Given the description of an element on the screen output the (x, y) to click on. 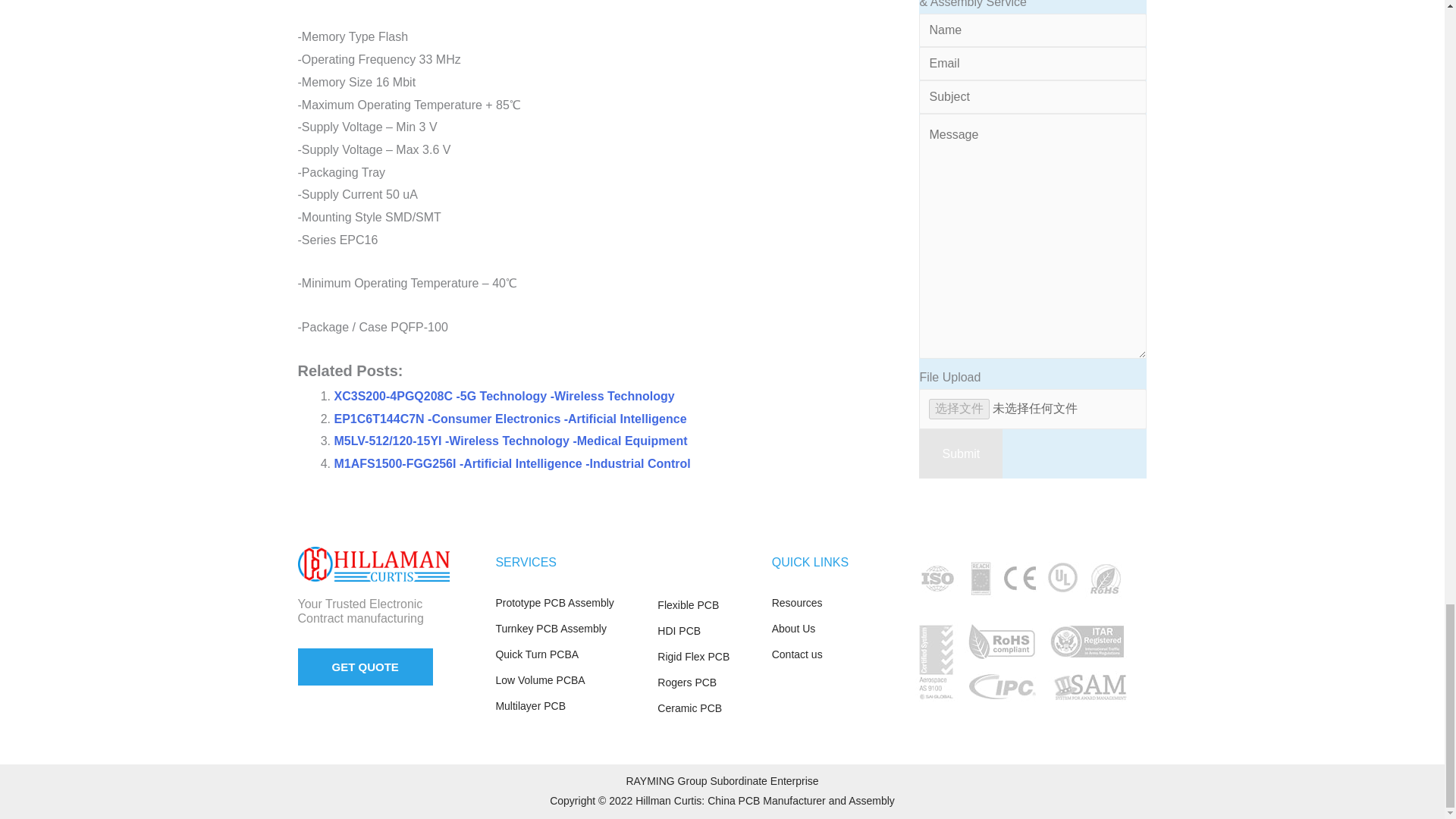
XC3S200-4PGQ208C -5G Technology -Wireless Technology (503, 395)
XC3S200-4PGQ208C -5G Technology -Wireless Technology (503, 395)
Prototype PCB Assembly (568, 603)
Quick Turn PCBA (568, 655)
EP1C6T144C7N -Consumer Electronics -Artificial Intelligence (509, 418)
Flexible PCB (706, 605)
Low Volume PCBA (568, 680)
EP1C6T144C7N -Consumer Electronics -Artificial Intelligence (509, 418)
GET QUOTE (364, 666)
Multilayer PCB (568, 706)
Turnkey PCB Assembly (568, 629)
